Given the description of an element on the screen output the (x, y) to click on. 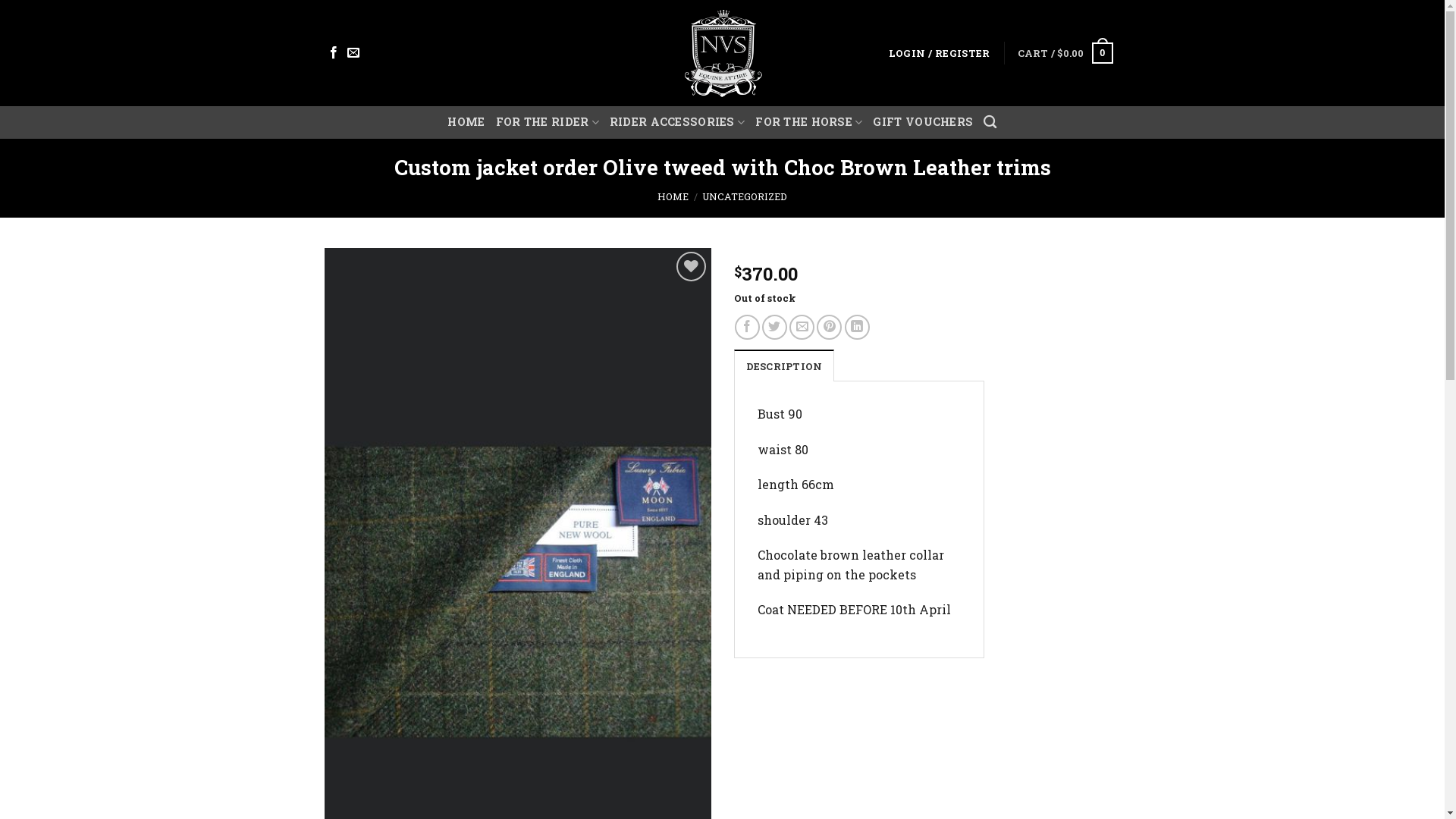
Follow on Facebook Element type: hover (333, 52)
DESCRIPTION Element type: text (784, 365)
CART / $0.00
0 Element type: text (1065, 52)
Send us an email Element type: hover (353, 52)
Email to a Friend Element type: hover (801, 326)
FOR THE RIDER Element type: text (547, 122)
Share on Facebook Element type: hover (746, 326)
Pin on Pinterest Element type: hover (828, 326)
UNCATEGORIZED Element type: text (744, 196)
FOR THE HORSE Element type: text (808, 122)
HOME Element type: text (465, 121)
RIDER ACCESSORIES Element type: text (676, 122)
Share on Twitter Element type: hover (774, 326)
HOME Element type: text (672, 196)
LOGIN / REGISTER Element type: text (939, 52)
GIFT VOUCHERS Element type: text (922, 121)
Share on LinkedIn Element type: hover (856, 326)
